Given the description of an element on the screen output the (x, y) to click on. 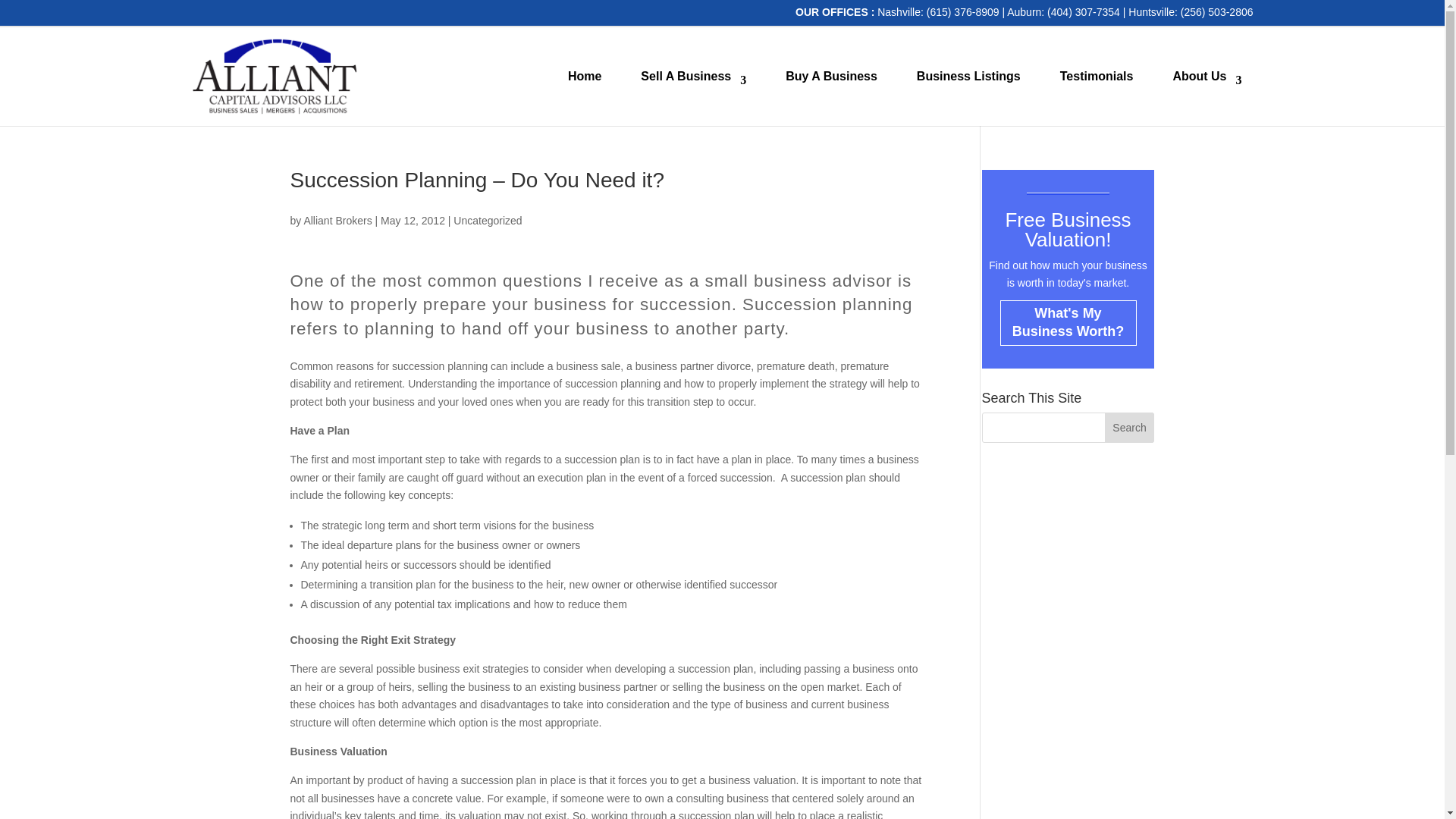
Business Listings (968, 76)
Alliant Brokers (336, 220)
Posts by Alliant Brokers (336, 220)
Sell A Business (692, 76)
Search (1129, 427)
Buy A Business (831, 76)
Search (1129, 427)
Uncategorized (486, 220)
What's My Business Worth? (1066, 322)
